Given the description of an element on the screen output the (x, y) to click on. 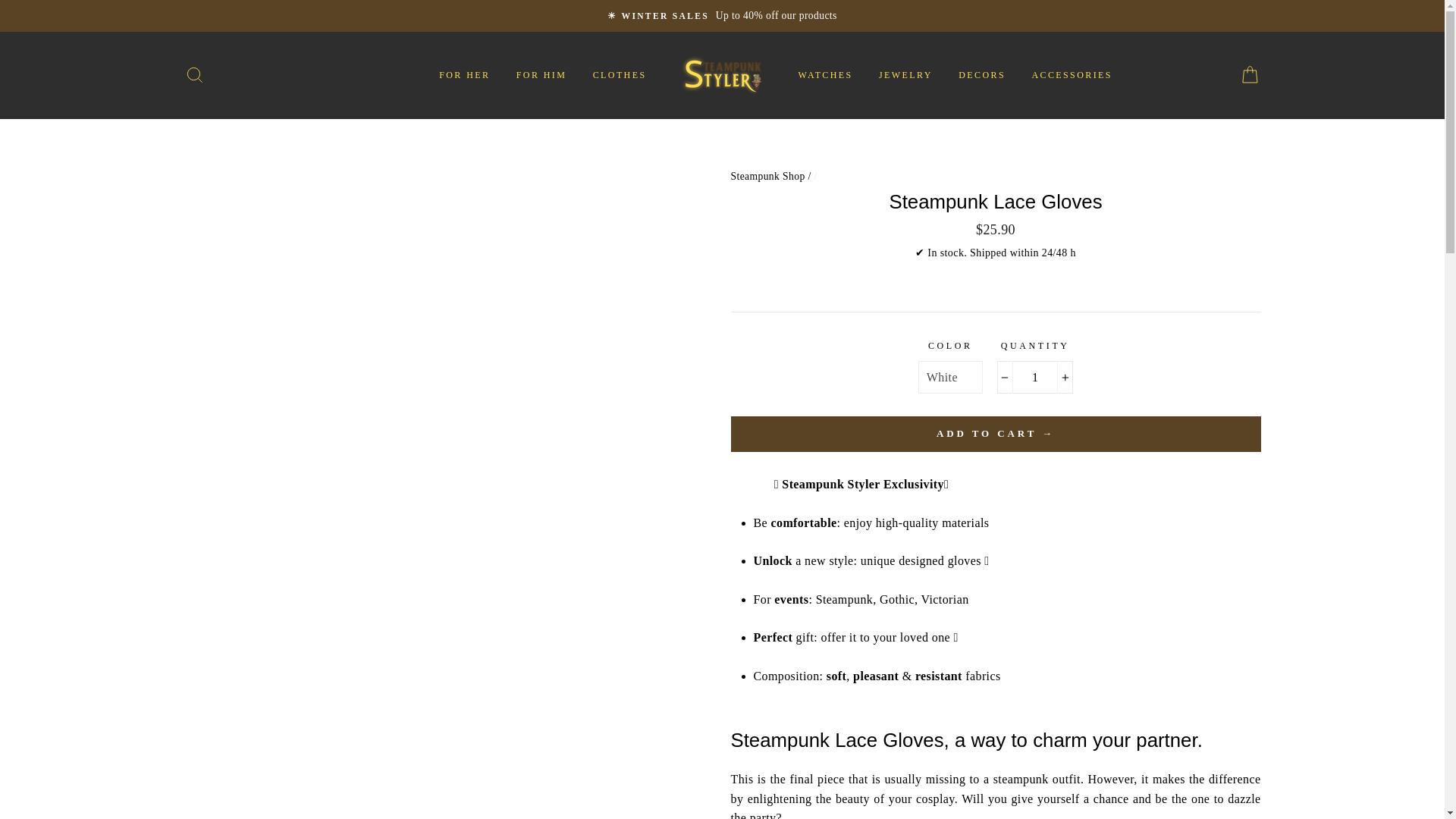
1 (1035, 377)
Back to the frontpage (769, 175)
